Given the description of an element on the screen output the (x, y) to click on. 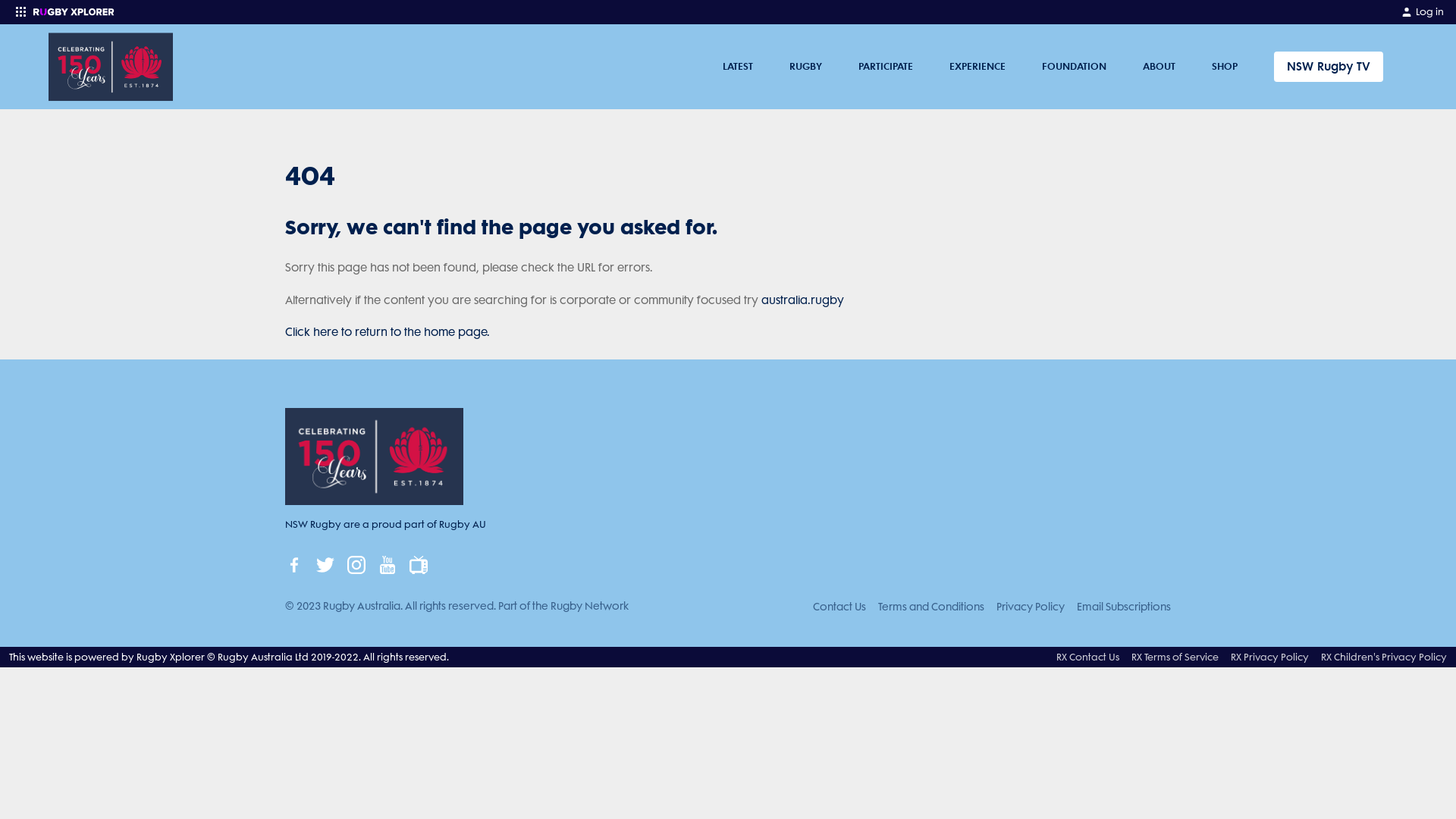
LATEST Element type: text (737, 66)
NSW Rugby are a proud part of Rugby AU Element type: text (404, 481)
RX Contact Us Element type: text (1087, 656)
NSW Rugby TV Element type: text (1328, 66)
RX Privacy Policy Element type: text (1269, 656)
youTube Element type: hover (387, 564)
FOUNDATION Element type: text (1073, 66)
ABOUT Element type: text (1158, 66)
PARTICIPATE Element type: text (885, 66)
instagram Element type: hover (356, 564)
RX Children's Privacy Policy Element type: text (1383, 656)
twitter Element type: hover (325, 564)
Contact Us Element type: text (839, 606)
RUGBY Element type: text (805, 66)
EXPERIENCE Element type: text (977, 66)
australia.rugby Element type: text (802, 300)
SHOP Element type: text (1224, 66)
Log in Element type: text (1421, 12)
tv Element type: hover (418, 564)
Privacy Policy Element type: text (1030, 606)
Terms and Conditions Element type: text (931, 606)
facebook Element type: hover (294, 564)
My Account Element type: hover (1406, 12)
RX Terms of Service Element type: text (1174, 656)
Email Subscriptions Element type: text (1123, 606)
NSW Rugby TV Element type: text (1328, 66)
Click here to return to the home page. Element type: text (387, 331)
